Given the description of an element on the screen output the (x, y) to click on. 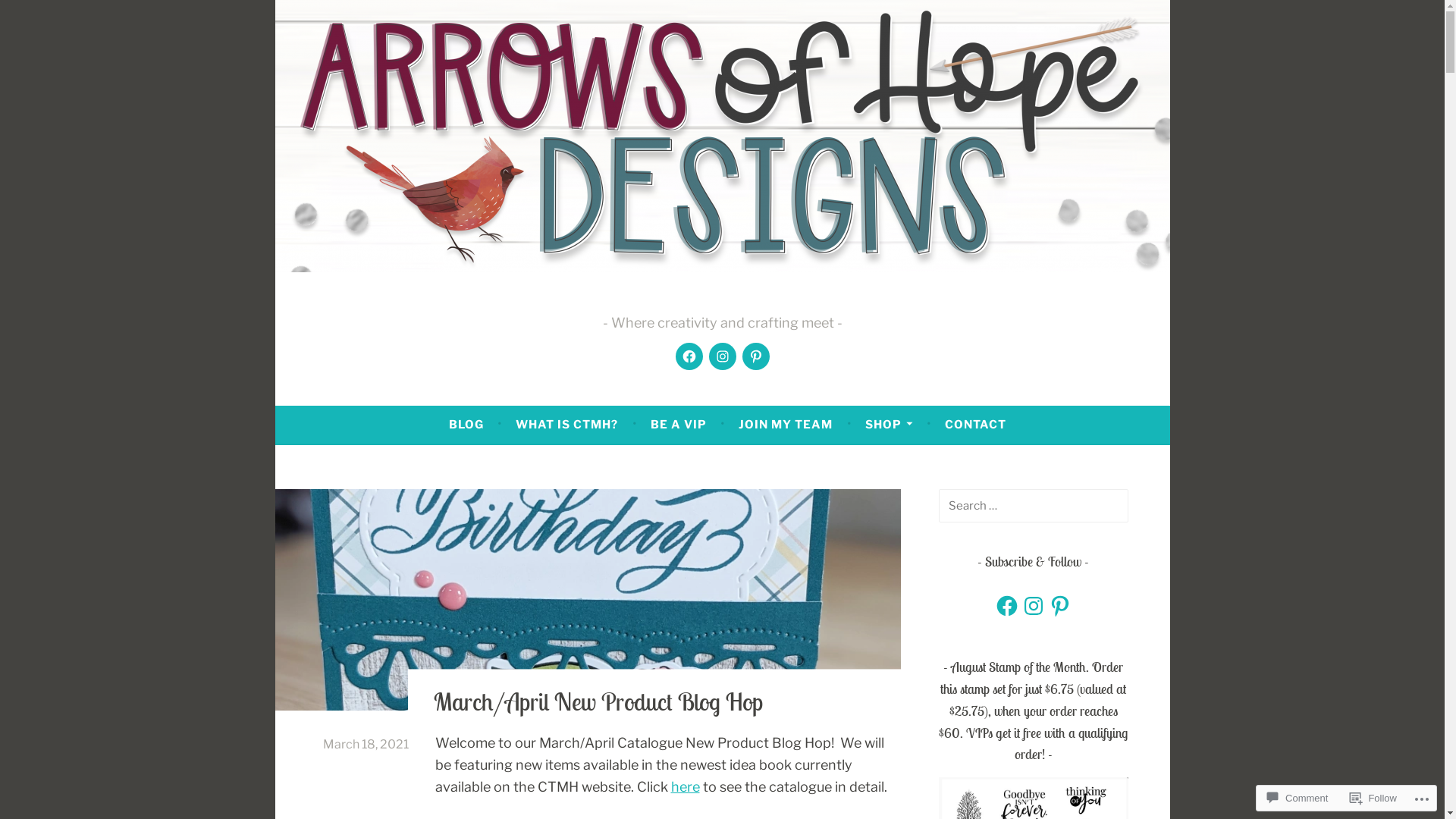
March 18, 2021 Element type: text (365, 744)
Search Element type: text (38, 15)
Follow Element type: text (1372, 797)
here Element type: text (684, 786)
Comment Element type: text (1297, 797)
SHOP Element type: text (889, 424)
BE A VIP Element type: text (678, 424)
BLOG Element type: text (465, 424)
JOIN MY TEAM Element type: text (785, 424)
WHAT IS CTMH? Element type: text (566, 424)
CONTACT Element type: text (975, 424)
